Given the description of an element on the screen output the (x, y) to click on. 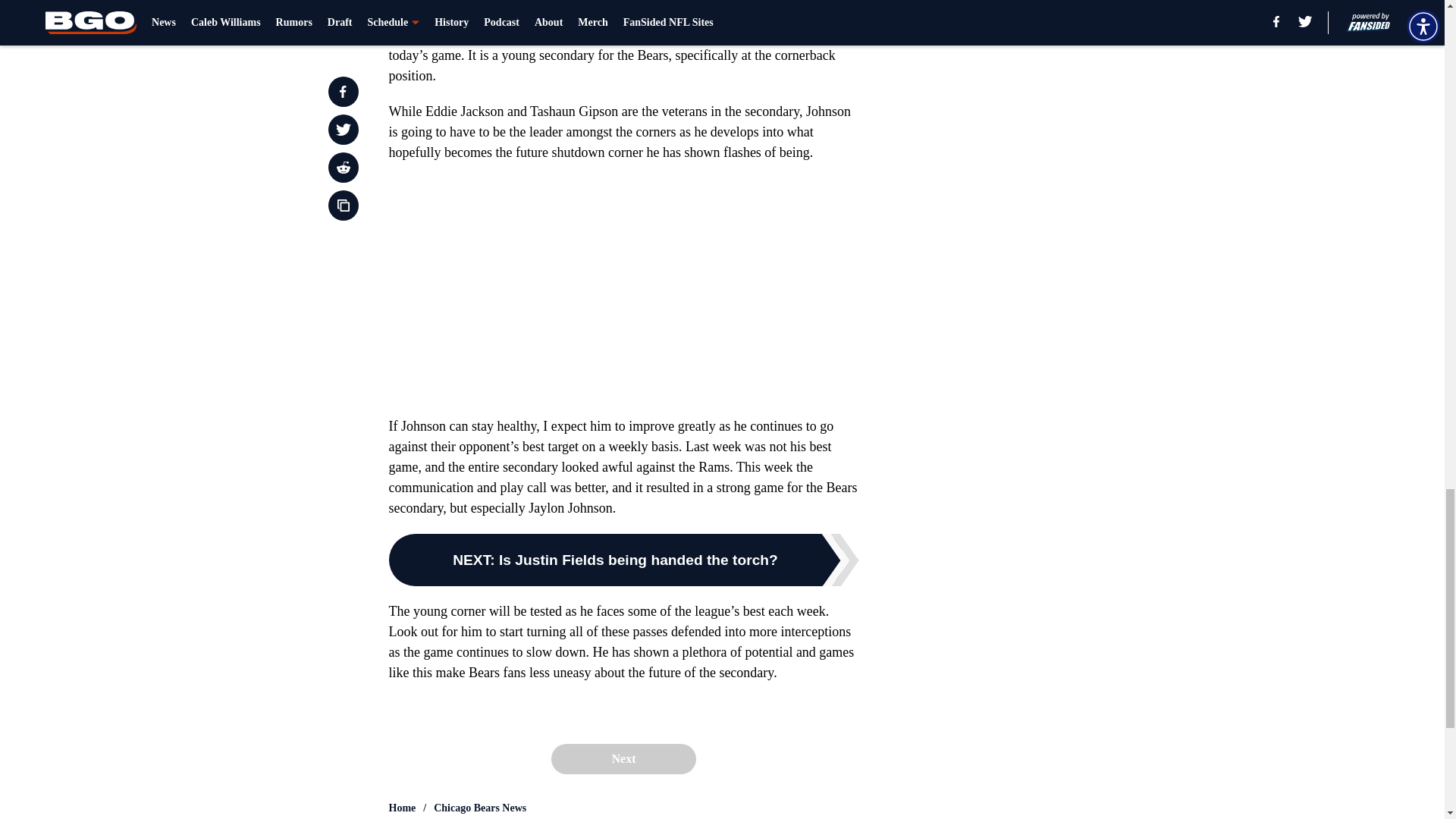
Chicago Bears News (479, 807)
Next (622, 758)
NEXT: Is Justin Fields being handed the torch? (623, 559)
Home (401, 807)
